Given the description of an element on the screen output the (x, y) to click on. 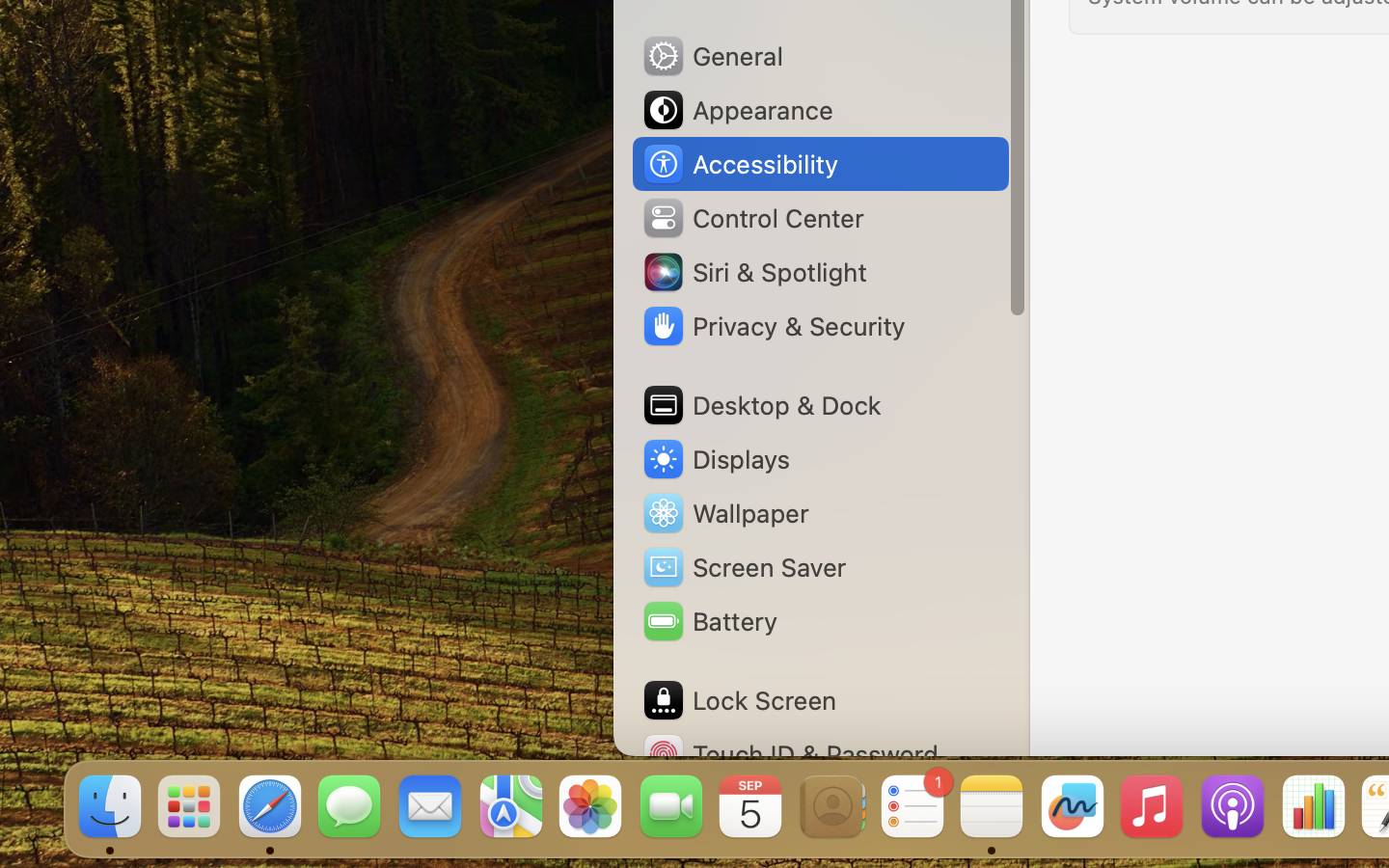
Appearance Element type: AXStaticText (736, 109)
Battery Element type: AXStaticText (708, 620)
Displays Element type: AXStaticText (715, 458)
Control Center Element type: AXStaticText (752, 217)
Privacy & Security Element type: AXStaticText (772, 325)
